Given the description of an element on the screen output the (x, y) to click on. 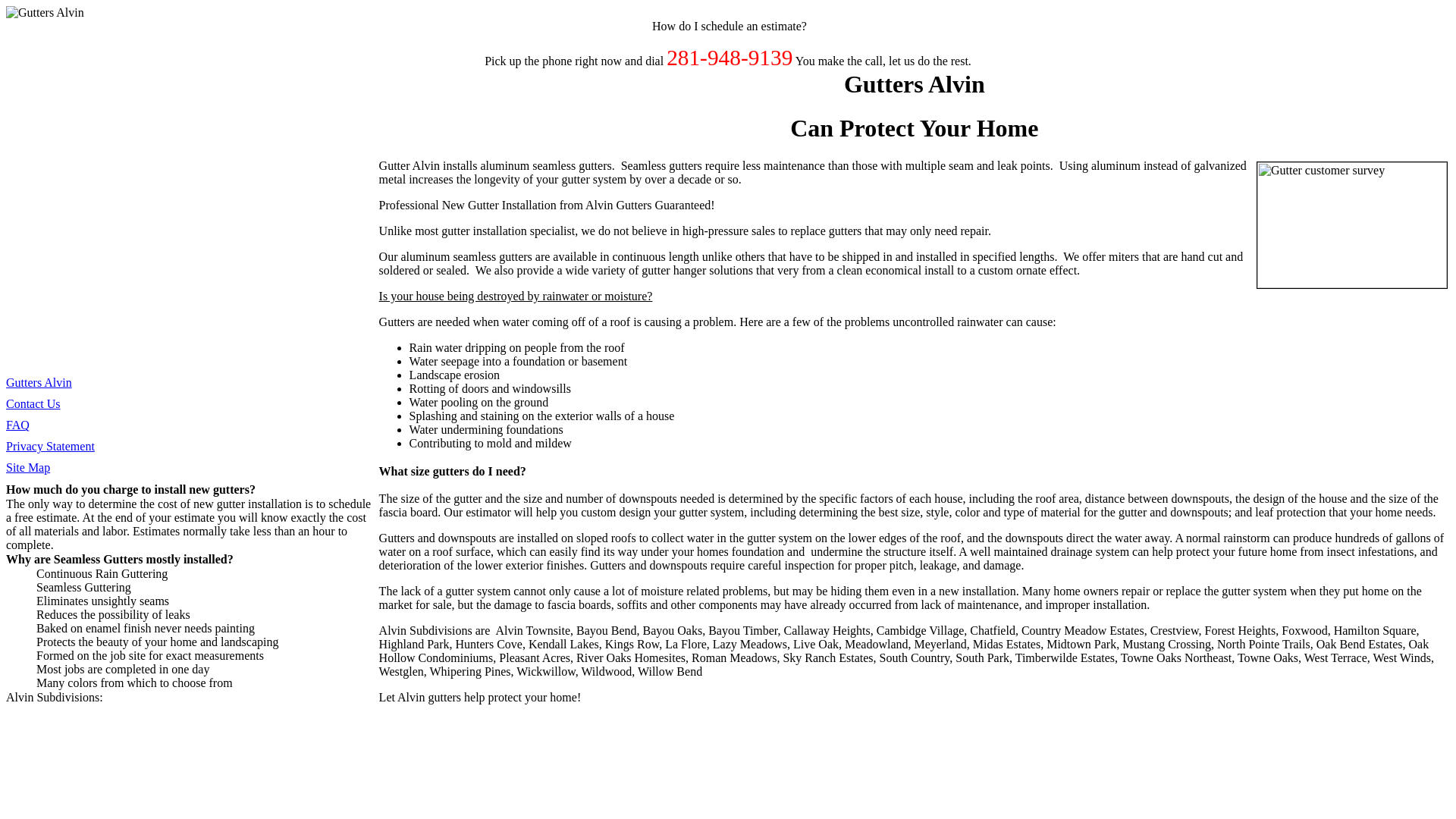
Gutters Alvin (38, 382)
Contact Us (33, 403)
Privacy Statement (49, 445)
Gutter customer survey (1351, 225)
FAQ (17, 424)
Site Map (27, 467)
